Given the description of an element on the screen output the (x, y) to click on. 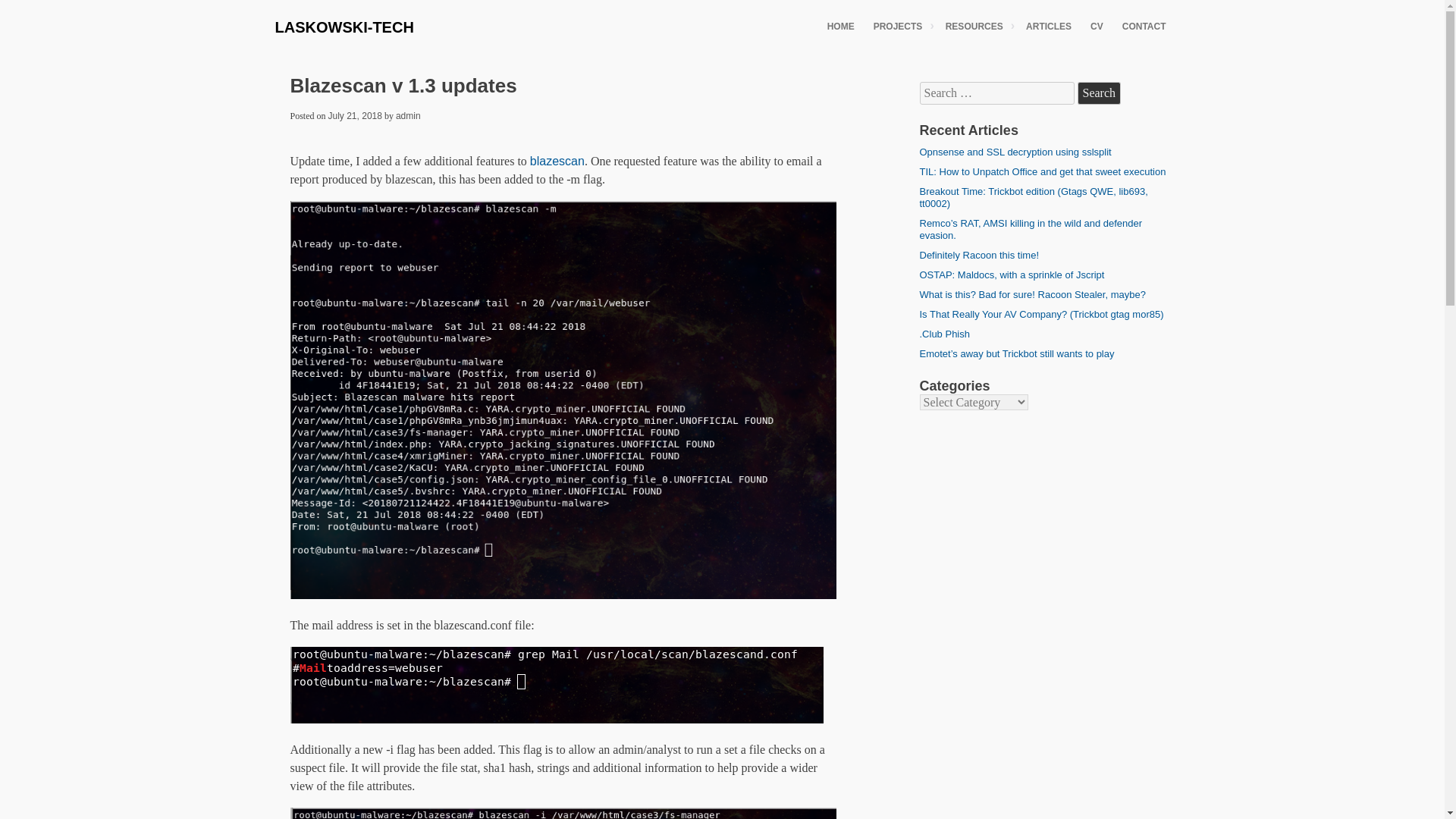
ARTICLES (1047, 25)
CONTACT (1144, 25)
admin (408, 115)
HOME (840, 25)
RESOURCES (975, 25)
.Club Phish (943, 333)
Definitely Racoon this time! (978, 255)
TIL: How to Unpatch Office and get that sweet execution (1042, 171)
What is this? Bad for sure! Racoon Stealer, maybe? (1031, 294)
Search (1099, 92)
